Given the description of an element on the screen output the (x, y) to click on. 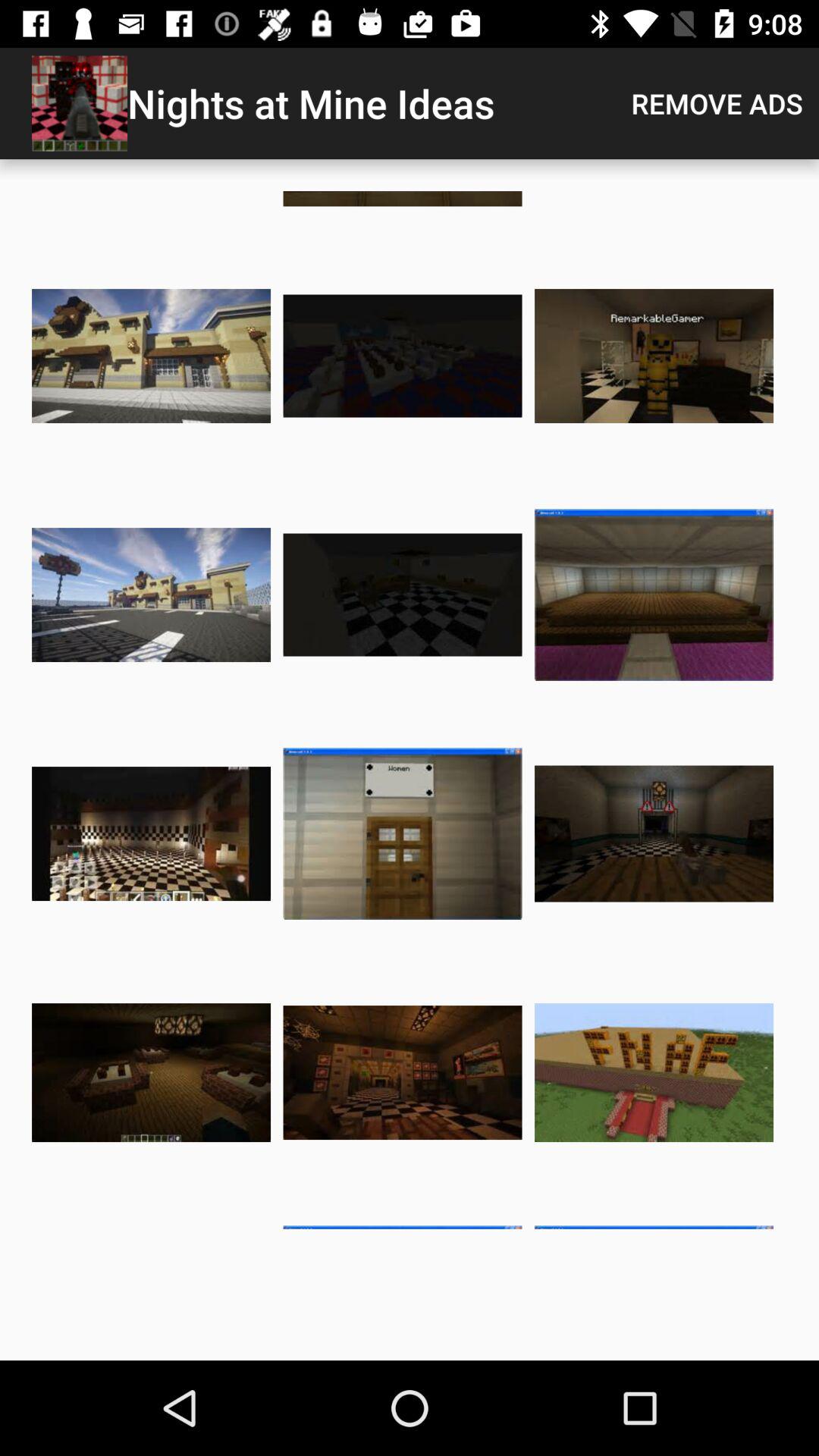
choose the icon next to nights at mine (717, 103)
